Given the description of an element on the screen output the (x, y) to click on. 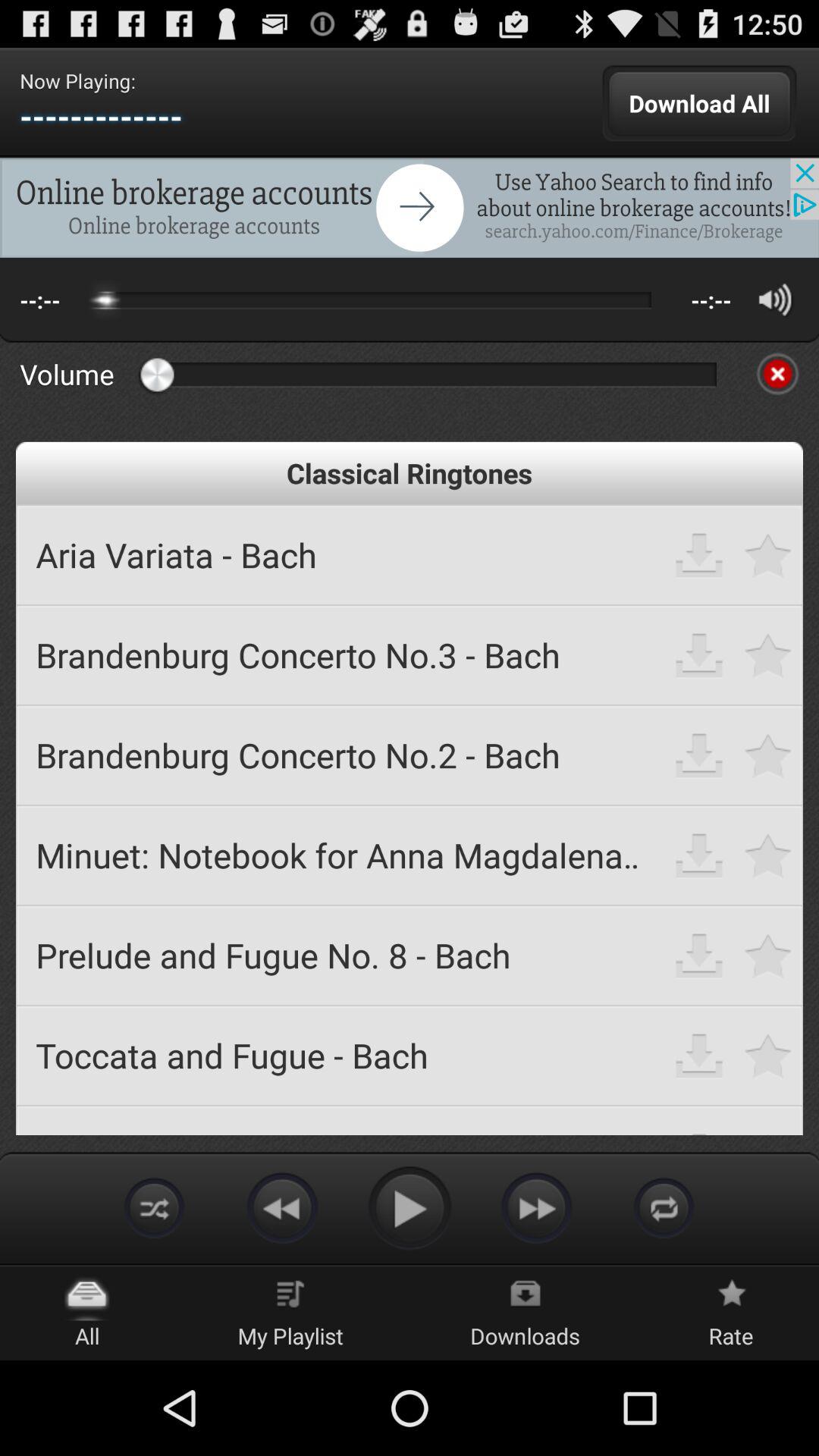
mark favorite (768, 954)
